Given the description of an element on the screen output the (x, y) to click on. 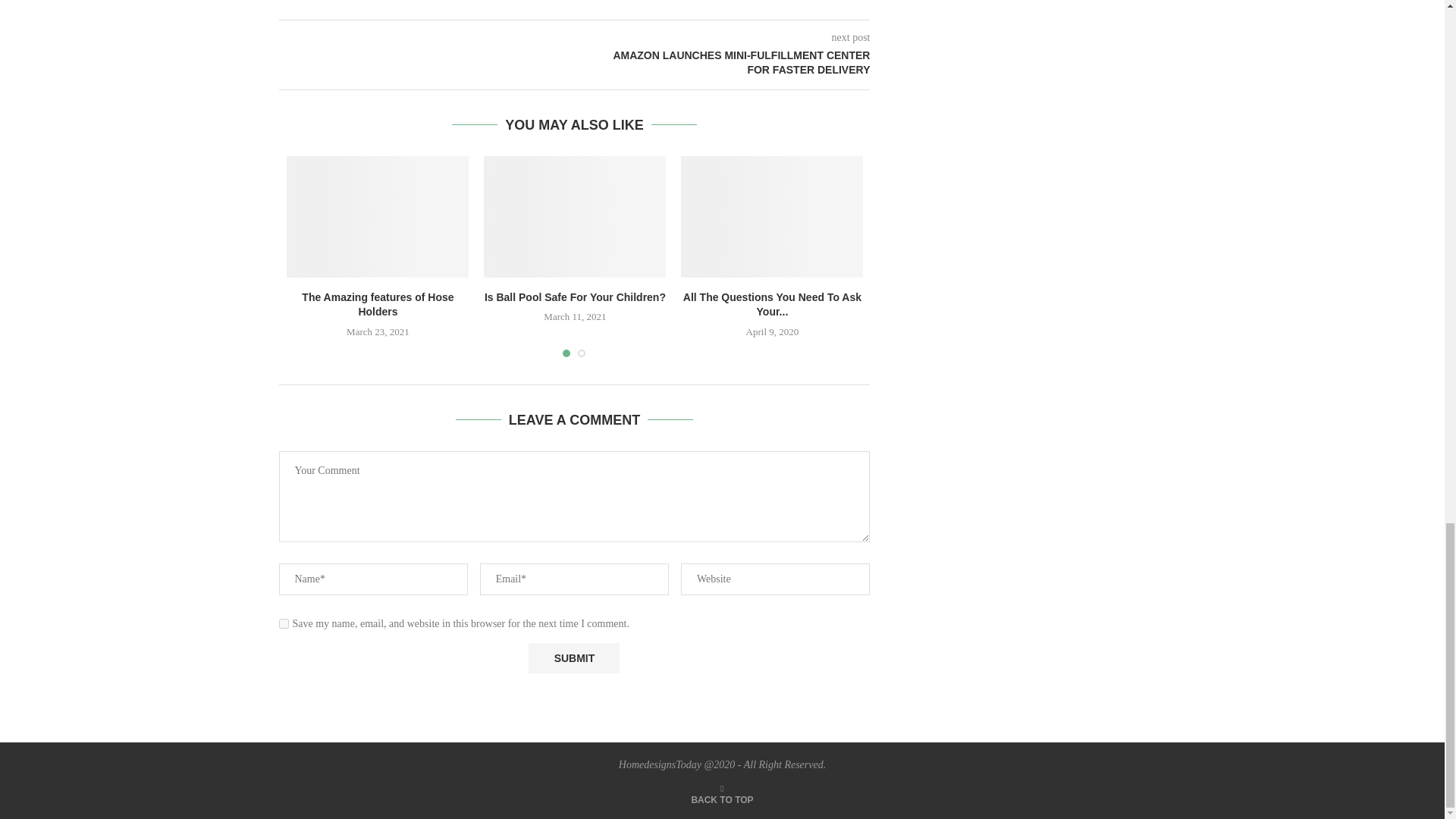
The Amazing features of Hose Holders (376, 304)
The Amazing features of Hose Holders (377, 216)
Is Ball Pool Safe For Your Children? (574, 297)
Is Ball Pool Safe For Your Children? (574, 216)
All The Questions You Need To Ask Your... (771, 304)
yes (283, 623)
AMAZON LAUNCHES MINI-FULFILLMENT CENTER FOR FASTER DELIVERY (722, 62)
All The Questions You Need To Ask Your Contract Manufacturer (772, 216)
Submit (574, 657)
